Given the description of an element on the screen output the (x, y) to click on. 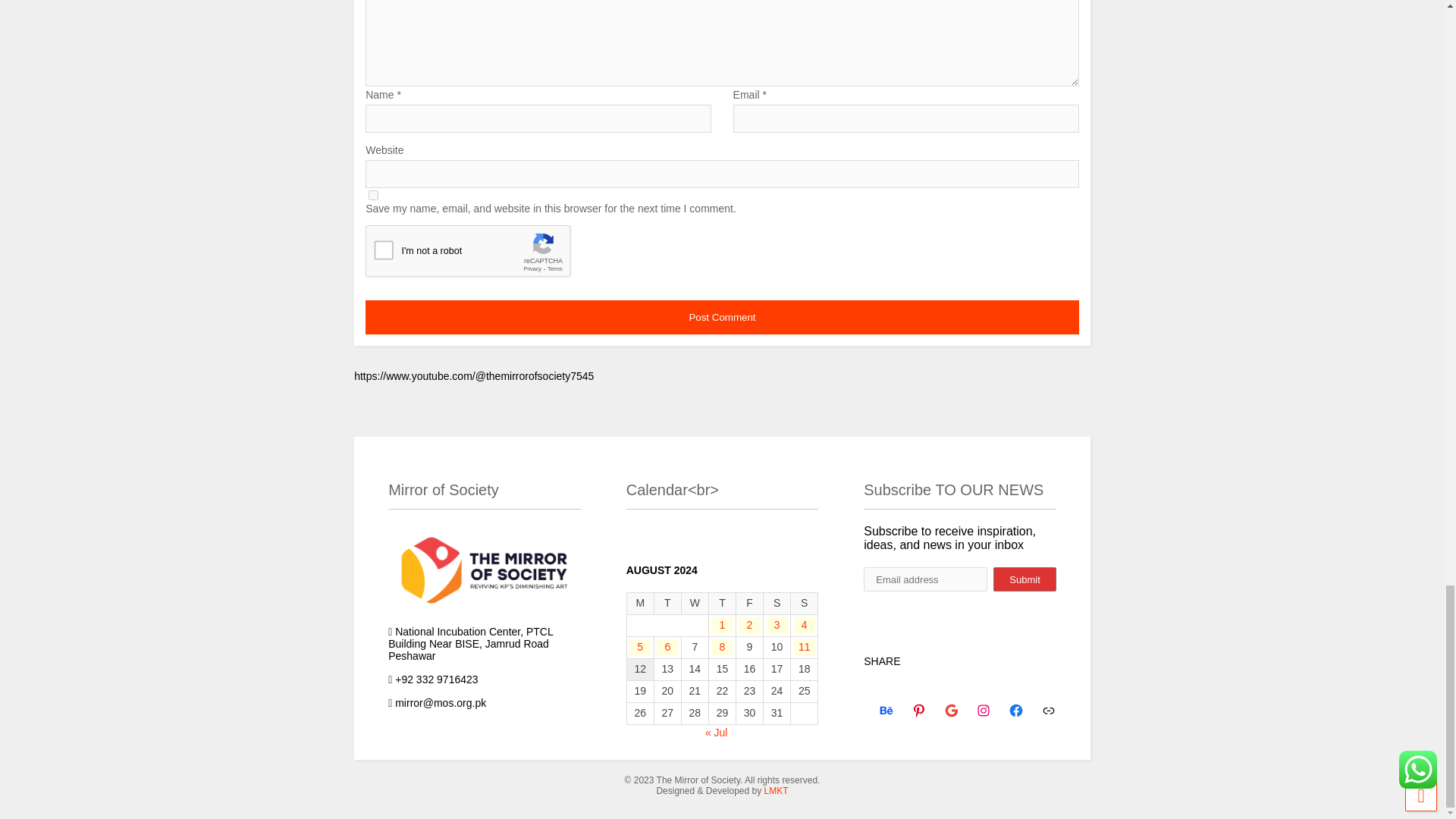
Post Comment (721, 317)
yes (373, 194)
Submit (1023, 579)
